Given the description of an element on the screen output the (x, y) to click on. 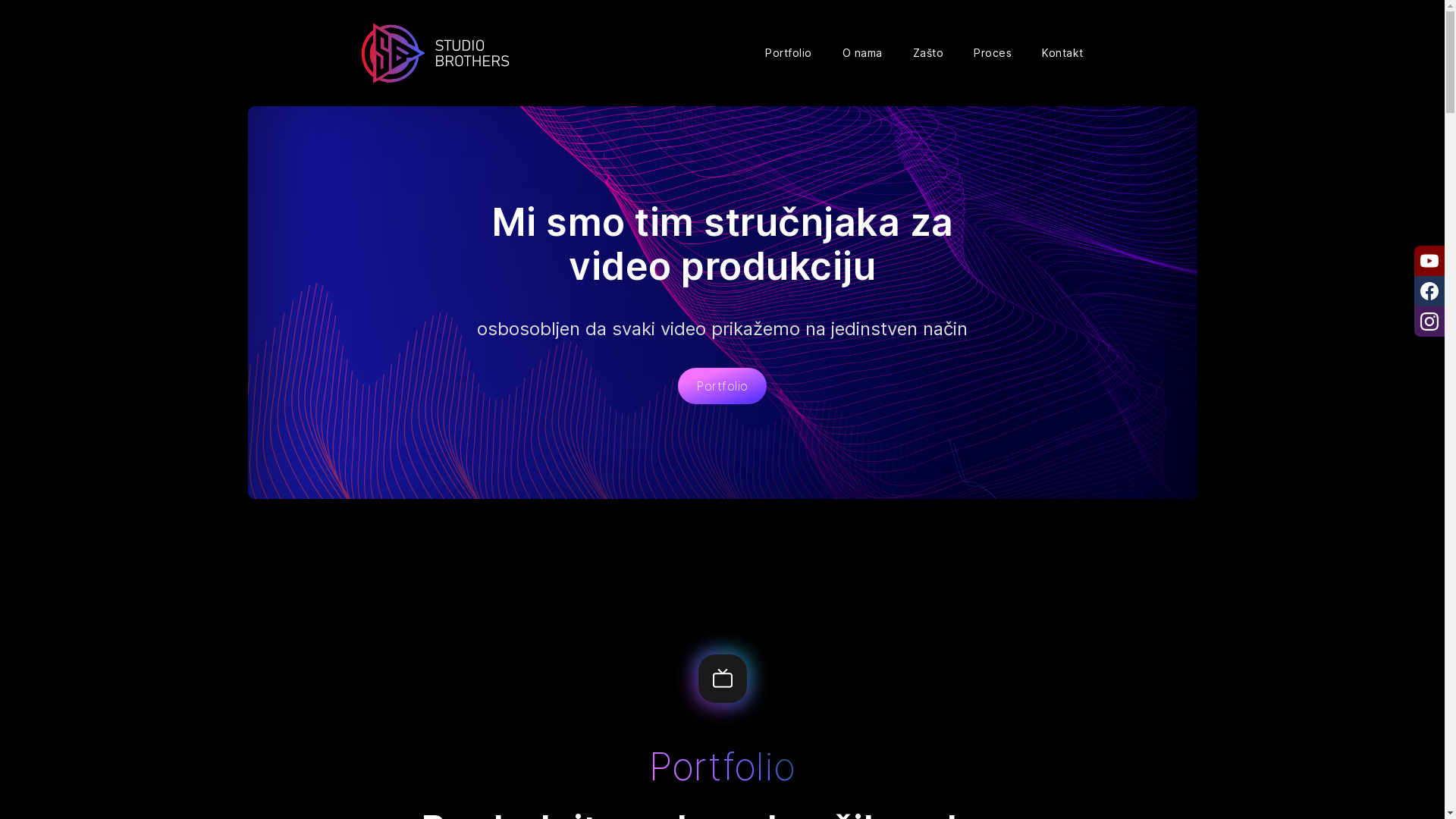
Proces Element type: text (992, 52)
O nama Element type: text (861, 52)
Kontakt Element type: text (1062, 52)
Portfolio Element type: text (721, 385)
Naslovna Element type: hover (434, 52)
Portfolio Element type: text (788, 52)
